Given the description of an element on the screen output the (x, y) to click on. 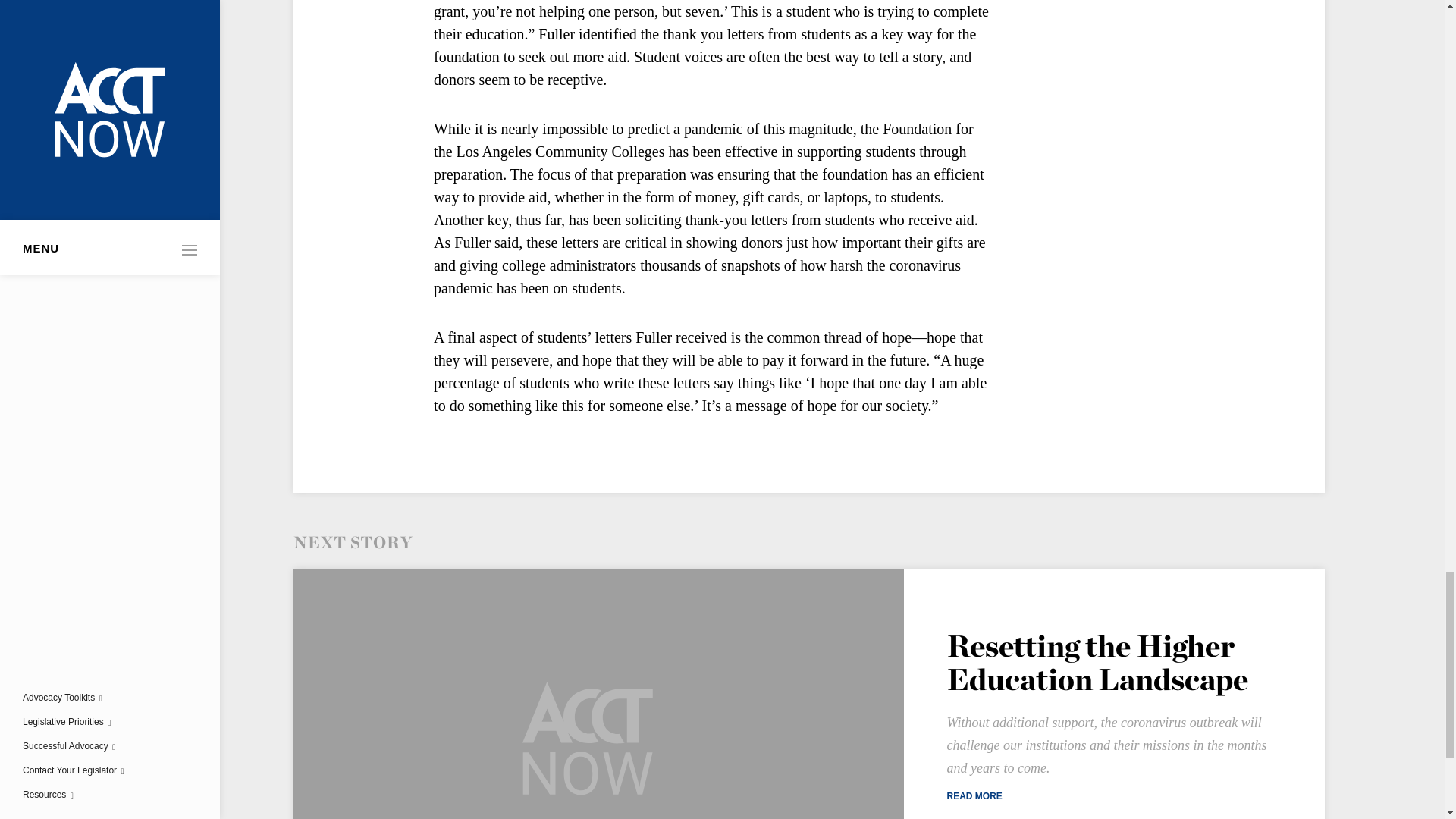
Resetting the Higher Education Landscape (1097, 662)
READ MORE (1111, 796)
